Given the description of an element on the screen output the (x, y) to click on. 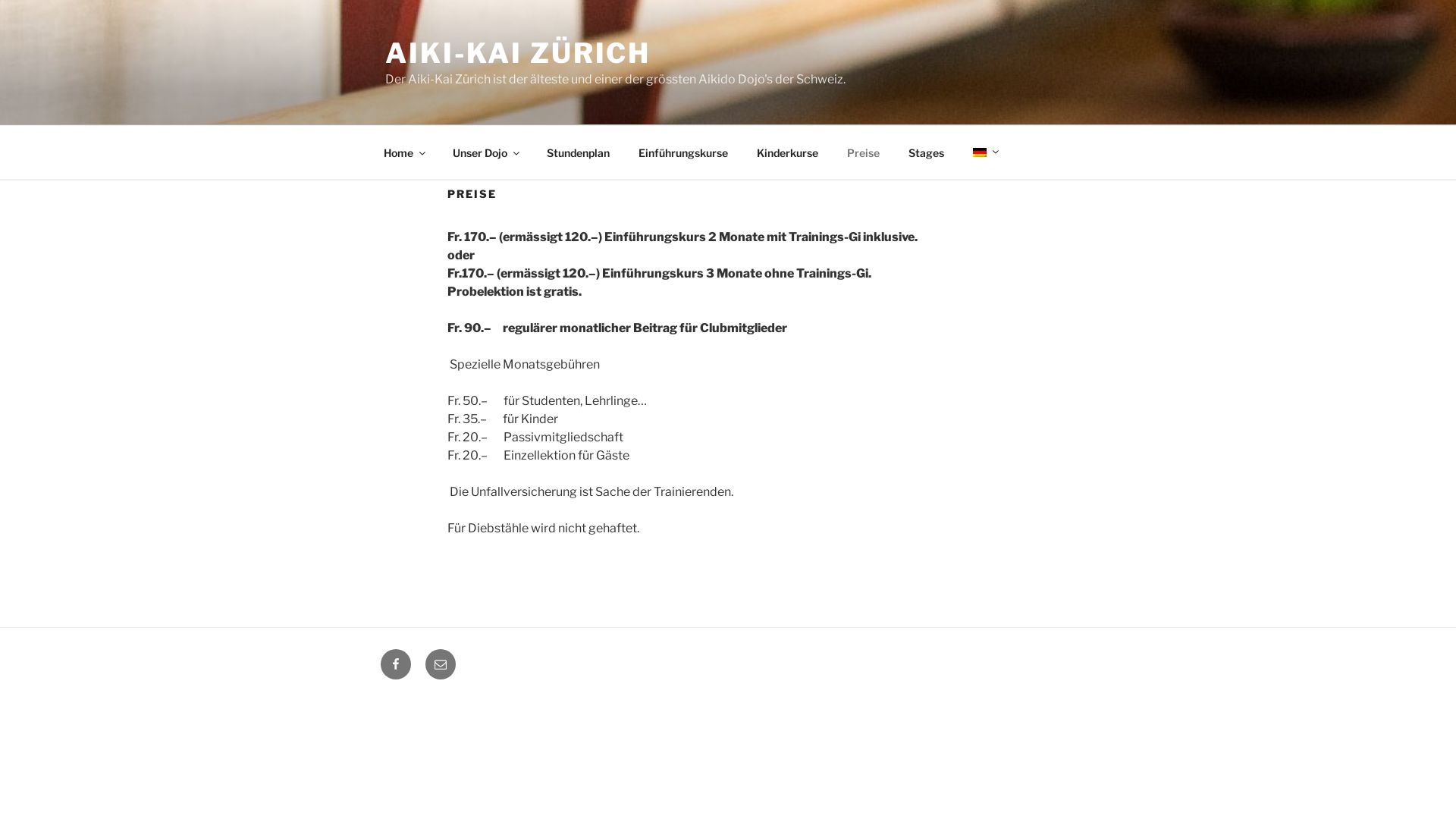
Kinderkurse Element type: text (787, 151)
Stages Element type: text (925, 151)
Preise Element type: text (862, 151)
Unser Dojo Element type: text (484, 151)
Facebook Element type: text (395, 664)
Email Element type: text (440, 664)
Stundenplan Element type: text (577, 151)
Home Element type: text (403, 151)
